Given the description of an element on the screen output the (x, y) to click on. 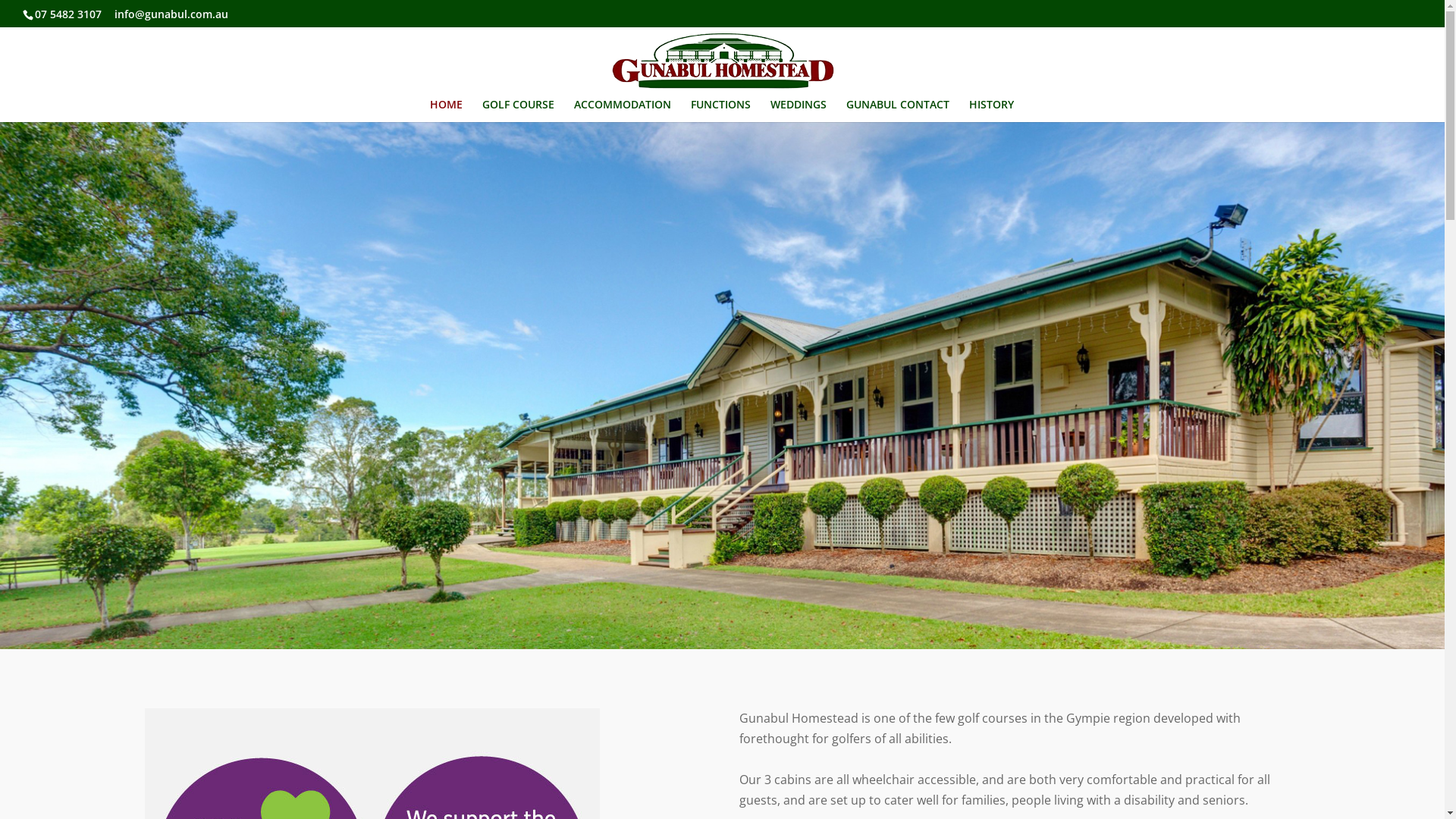
Gunabul Homestead Gympie Qld Element type: hover (722, 385)
WEDDINGS Element type: text (798, 110)
ACCOMMODATION Element type: text (621, 110)
GUNABUL CONTACT Element type: text (897, 110)
GOLF COURSE Element type: text (518, 110)
HOME Element type: text (445, 110)
info@gunabul.com.au Element type: text (171, 13)
FUNCTIONS Element type: text (719, 110)
HISTORY Element type: text (991, 110)
